Given the description of an element on the screen output the (x, y) to click on. 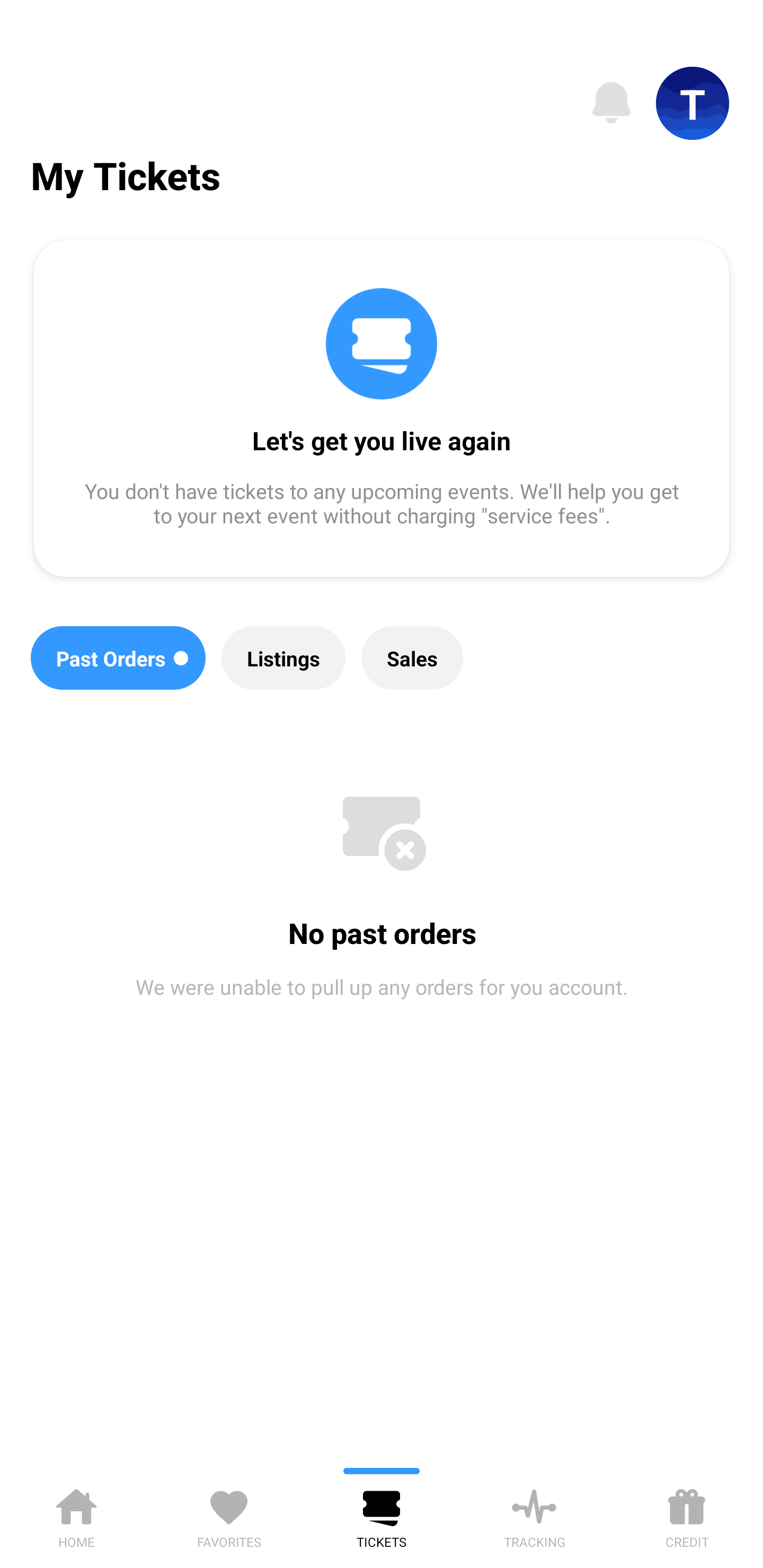
T (692, 103)
Past Orders (117, 657)
Listings (283, 657)
Sales (412, 657)
HOME (76, 1515)
FAVORITES (228, 1515)
TICKETS (381, 1515)
TRACKING (533, 1515)
CREDIT (686, 1515)
